Given the description of an element on the screen output the (x, y) to click on. 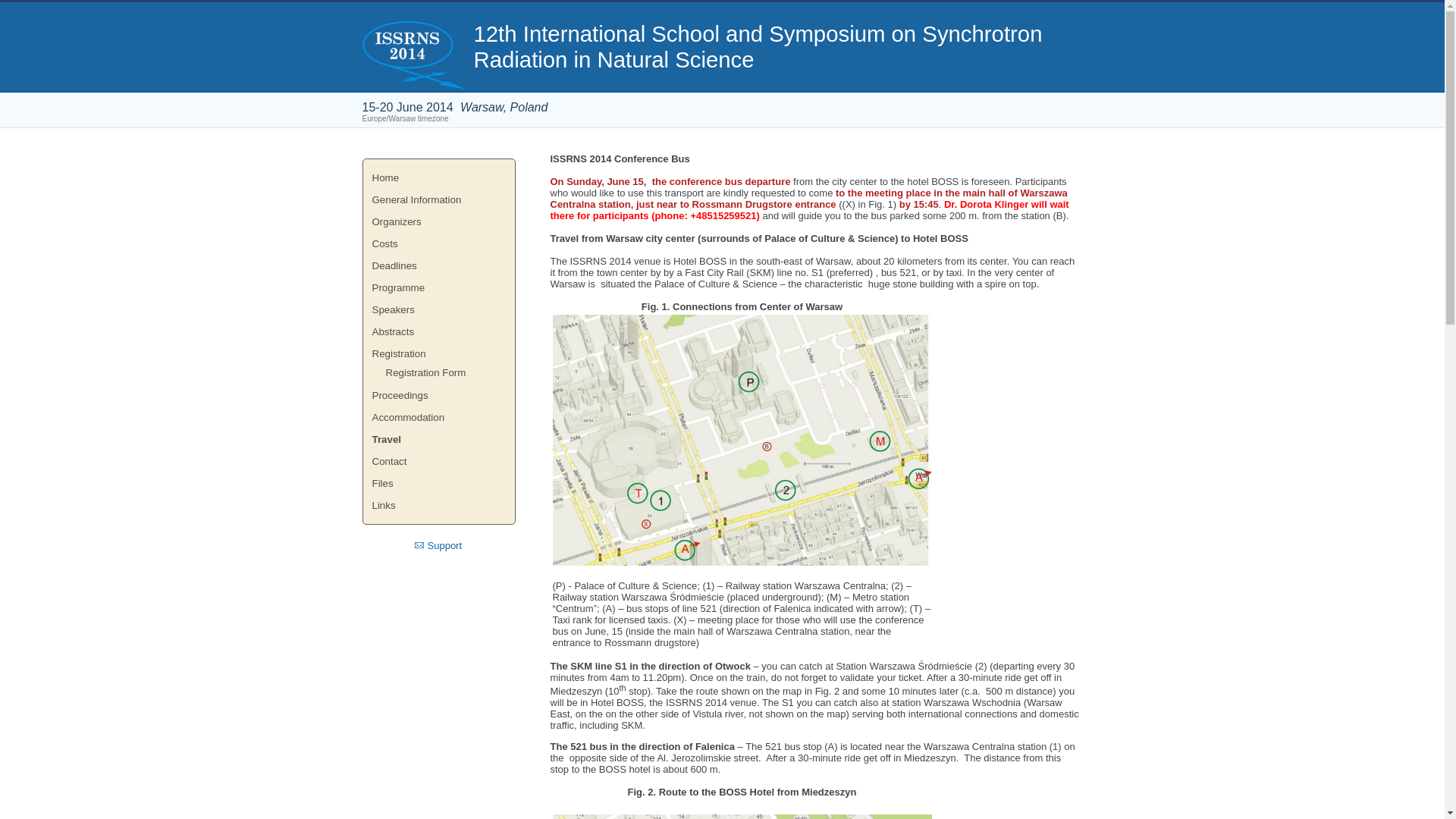
Files (437, 483)
Registration Form (437, 372)
Costs (437, 243)
Proceedings (437, 395)
Support (437, 545)
Contact (437, 461)
Registration (437, 353)
Home (437, 178)
General Information (437, 199)
Deadlines (437, 265)
Accommodation (437, 417)
Travel (437, 439)
Programme (437, 287)
Organizers (437, 221)
